Given the description of an element on the screen output the (x, y) to click on. 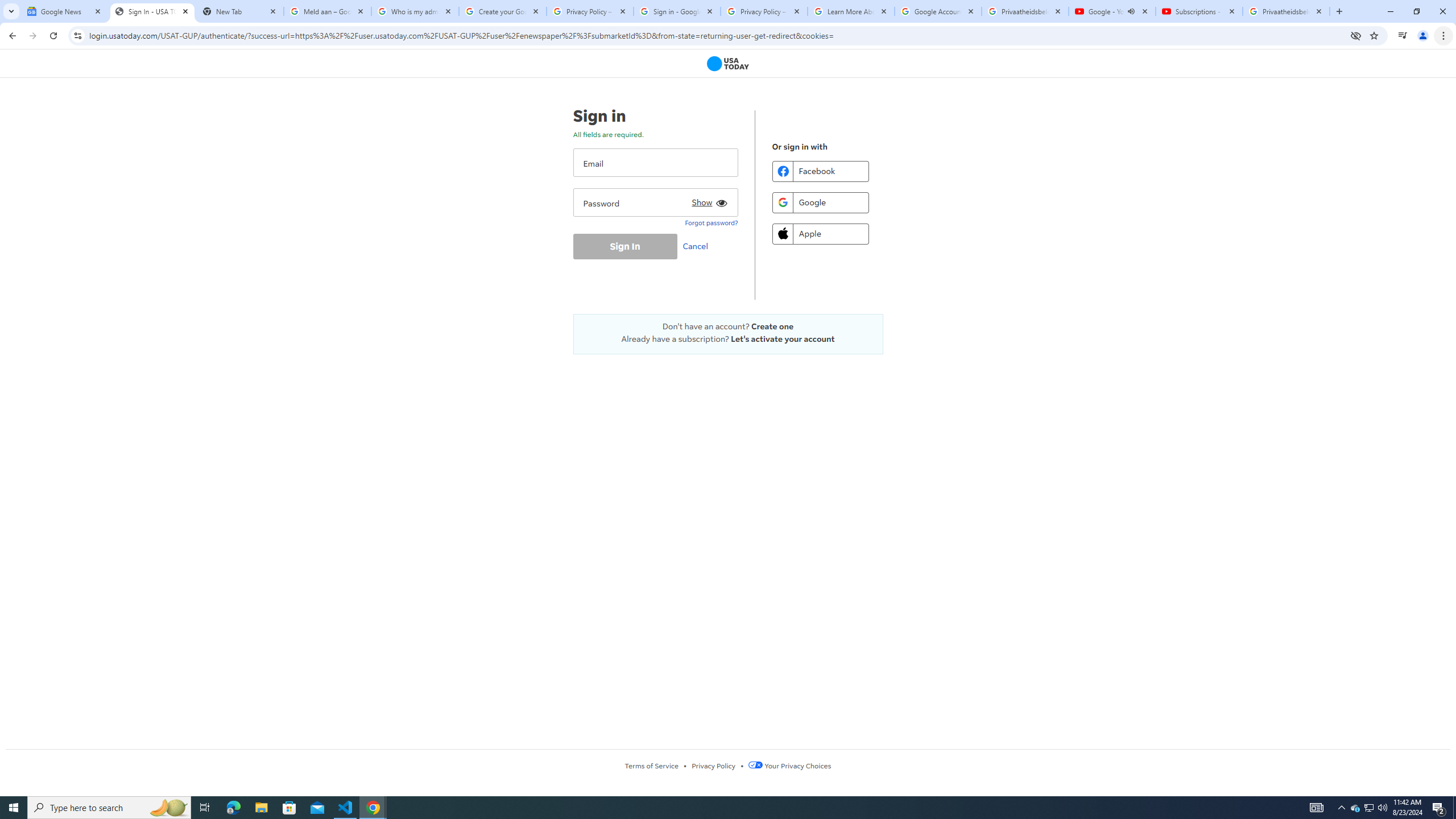
Who is my administrator? - Google Account Help (415, 11)
Show (707, 200)
Already have a subscription? Let's activate your account (727, 338)
